Given the description of an element on the screen output the (x, y) to click on. 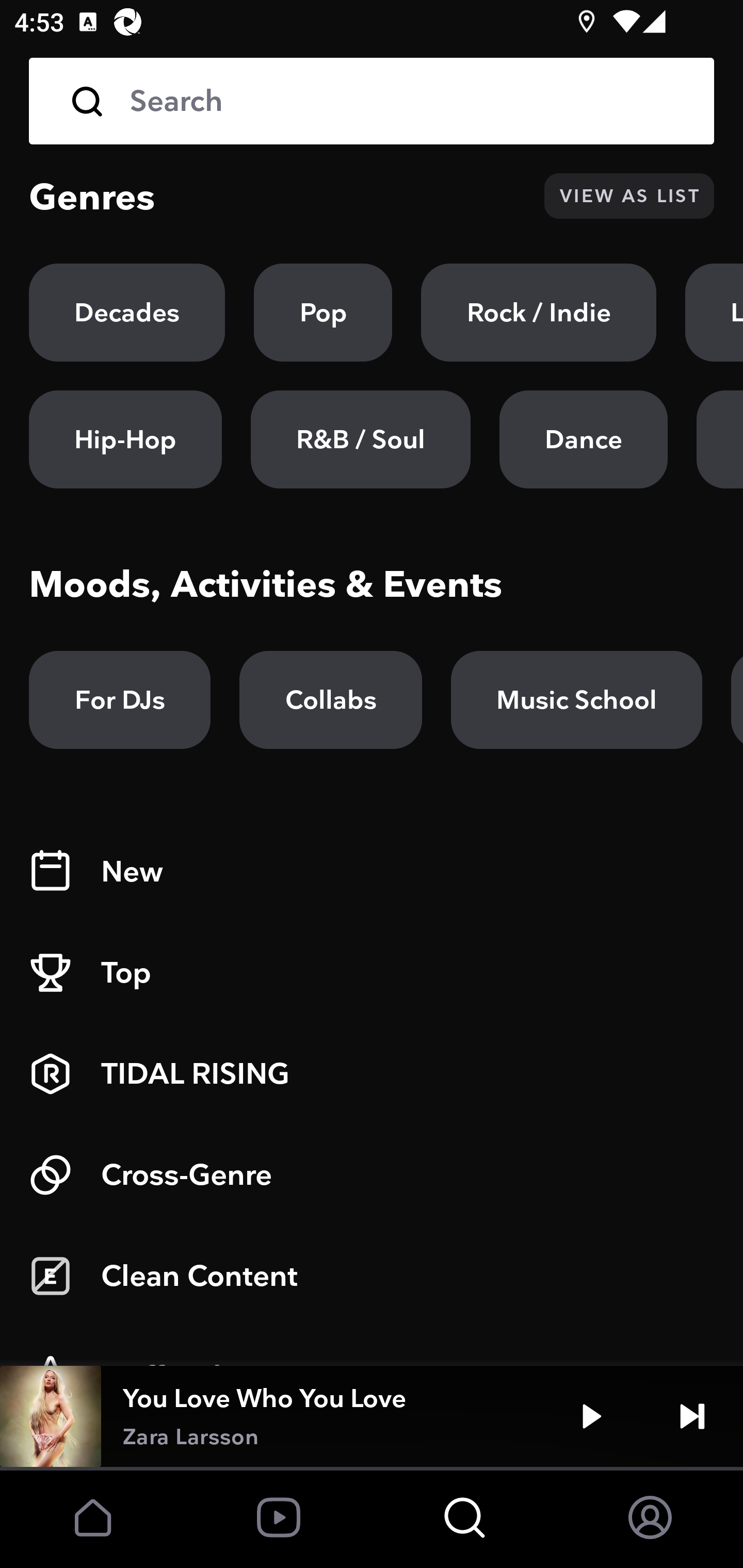
Search (371, 101)
Search (407, 100)
VIEW AS LIST (629, 195)
Decades (126, 312)
Pop (323, 312)
Rock / Indie (538, 312)
Hip-Hop (125, 439)
R&B / Soul (360, 439)
Dance (583, 439)
For DJs (119, 699)
Collabs (330, 699)
Music School (576, 699)
New (371, 871)
Top (371, 972)
TIDAL RISING (371, 1073)
Cross-Genre (371, 1175)
Clean Content (371, 1276)
You Love Who You Love Zara Larsson Play (371, 1416)
Play (590, 1416)
